Given the description of an element on the screen output the (x, y) to click on. 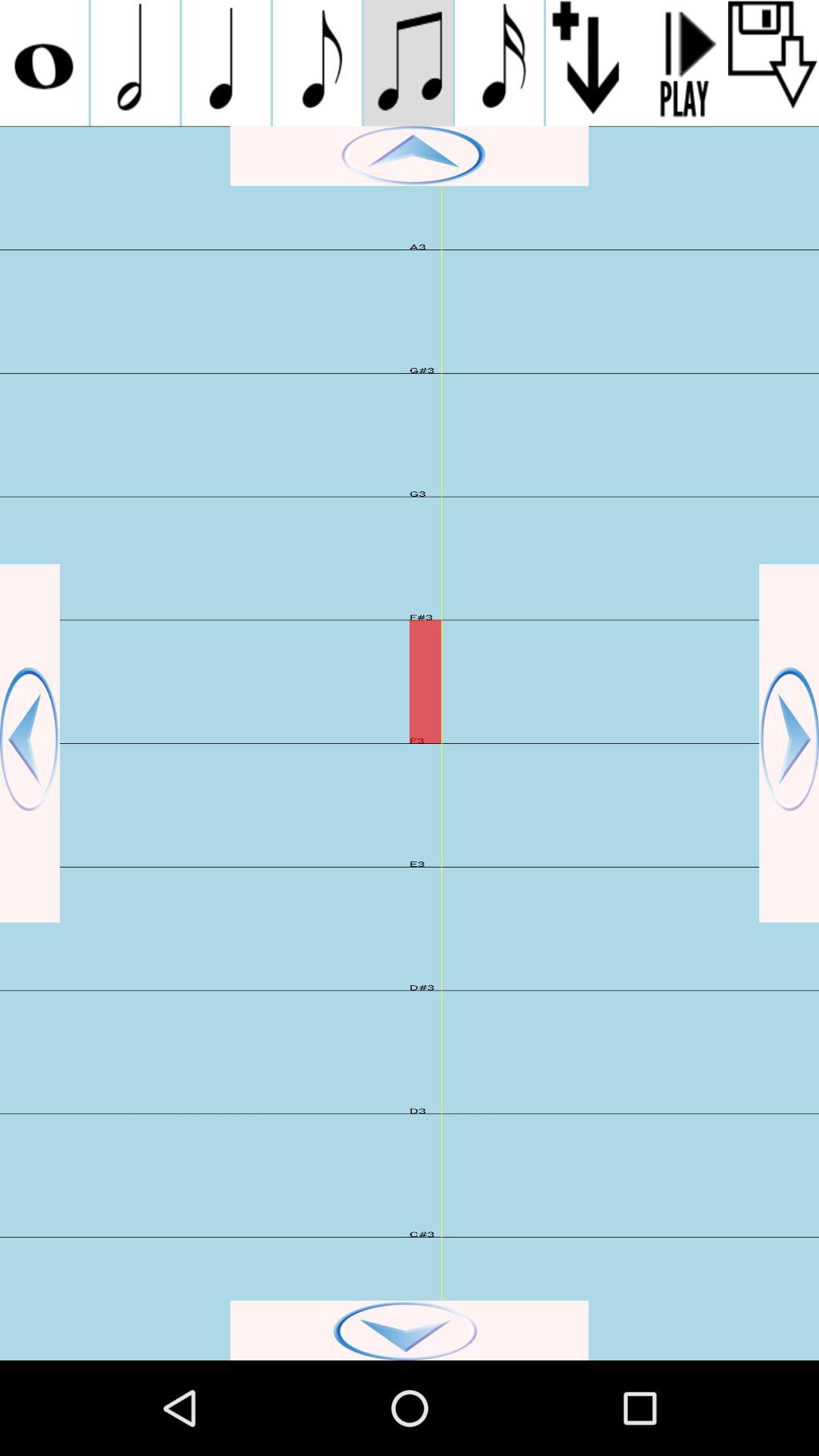
button to activate the musical note (317, 63)
